Given the description of an element on the screen output the (x, y) to click on. 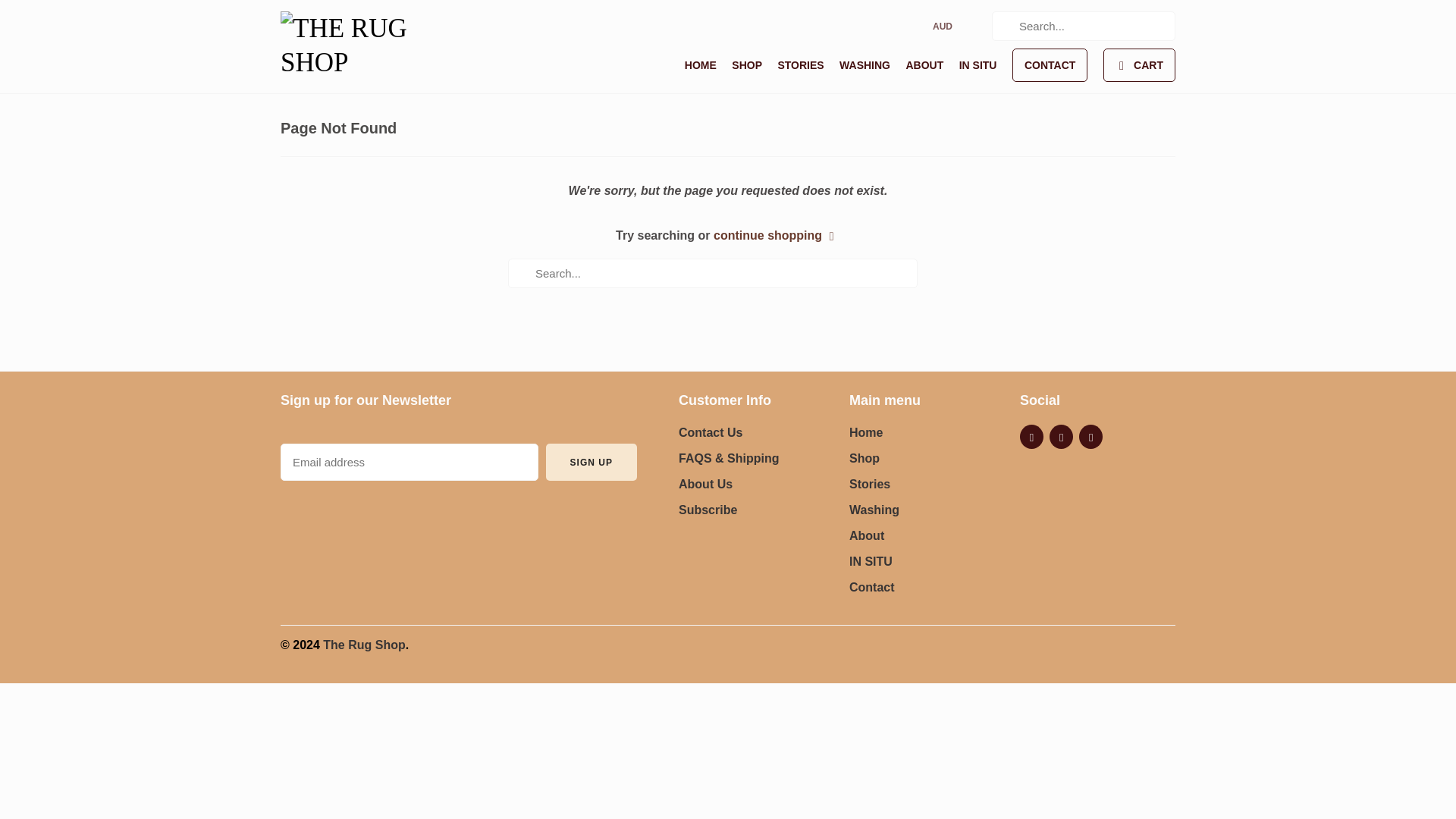
Cart (1138, 64)
IN SITU (870, 561)
About (865, 535)
continue shopping (776, 235)
Email The Rug Shop (1090, 436)
IN SITU (978, 68)
Stories (868, 483)
The Rug Shop on Facebook (1031, 436)
Sign Up (591, 461)
About Us (705, 483)
ABOUT (924, 68)
CONTACT (1049, 64)
WASHING (864, 68)
SHOP (746, 68)
Sign Up (591, 461)
